Given the description of an element on the screen output the (x, y) to click on. 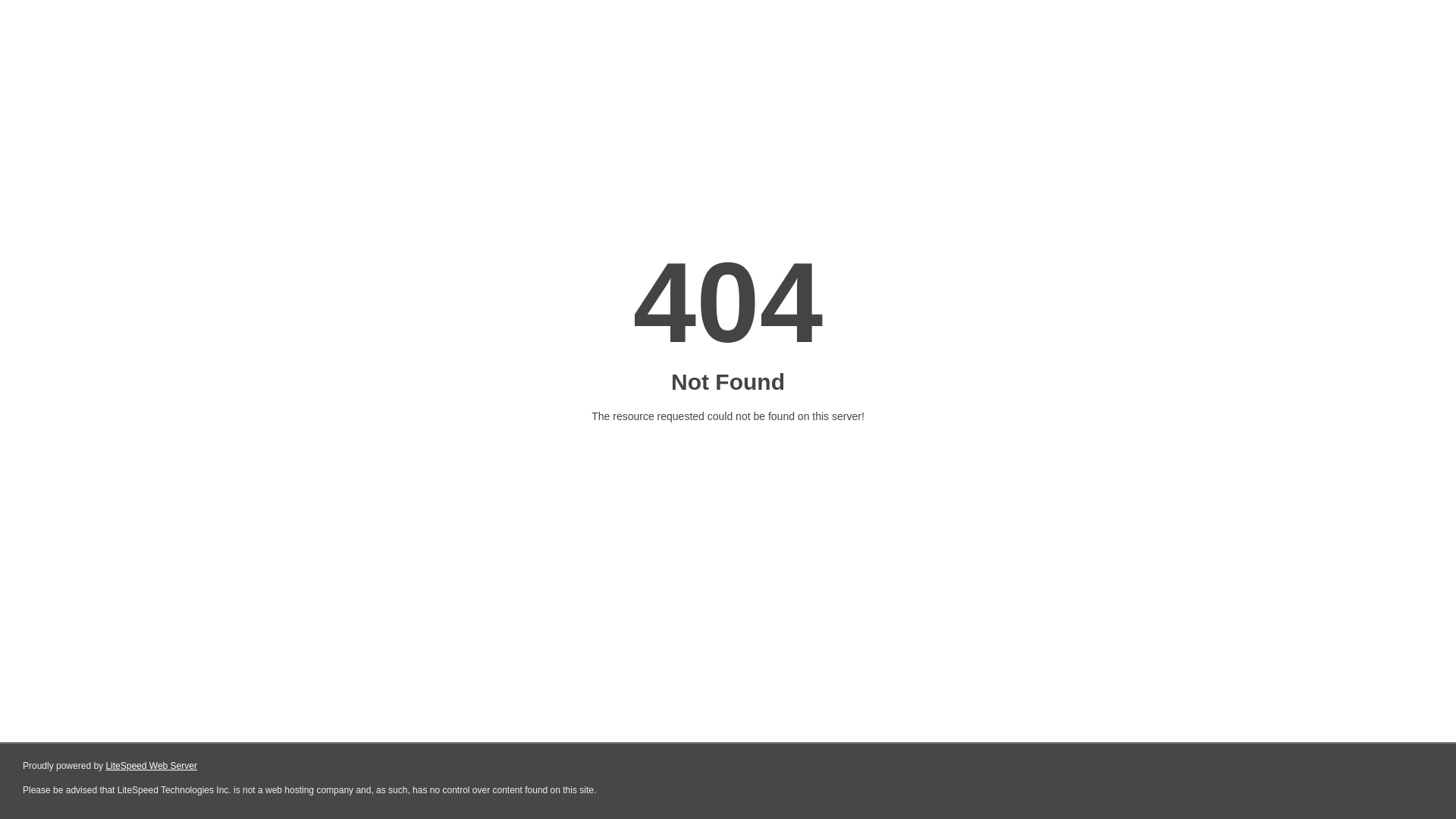
LiteSpeed Web Server Element type: text (151, 765)
